Given the description of an element on the screen output the (x, y) to click on. 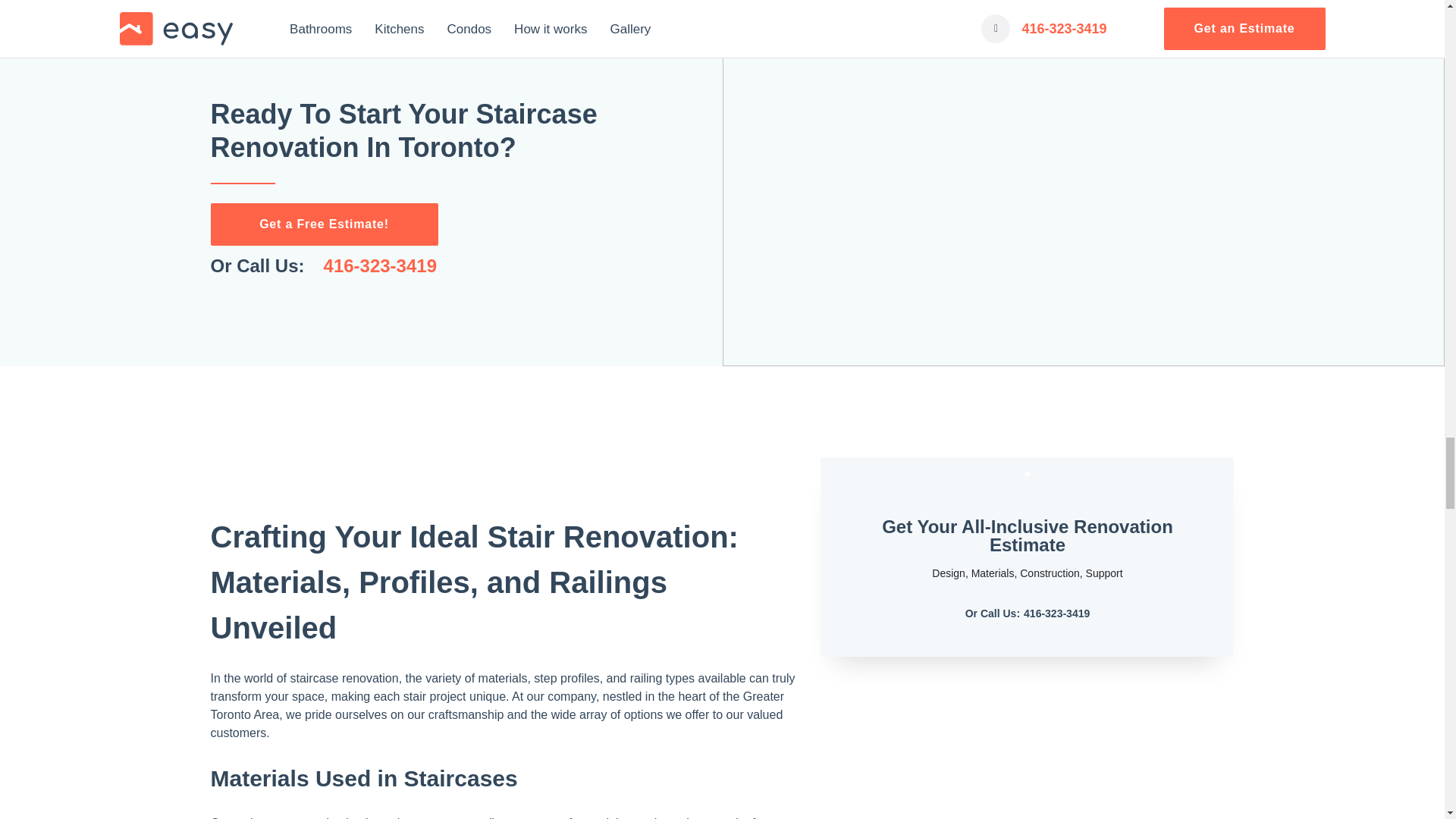
Get a Free Estimate! (324, 224)
416-323-3419 (379, 265)
416-323-3419 (1056, 613)
